Given the description of an element on the screen output the (x, y) to click on. 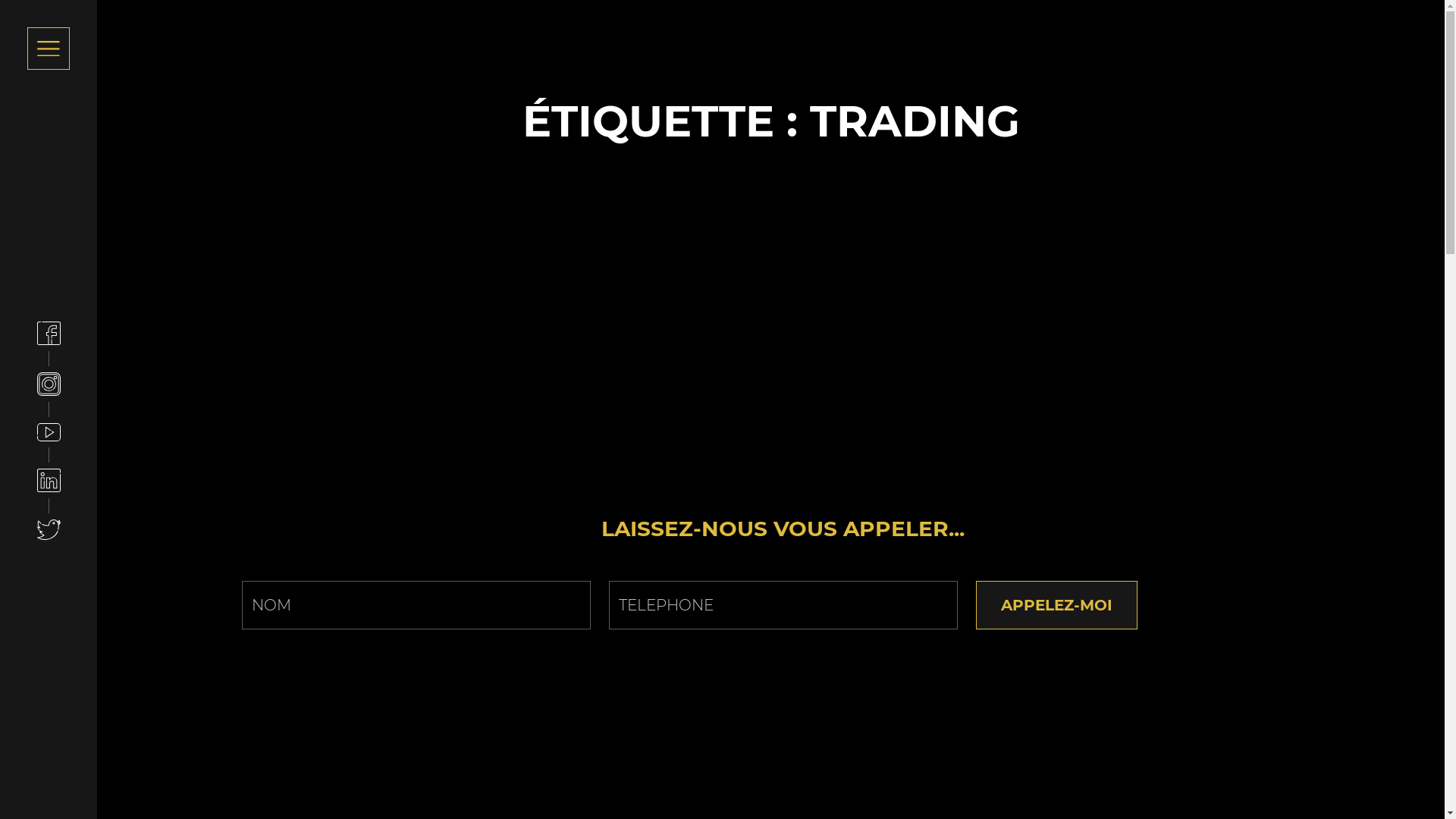
achatdor.ch Element type: hover (770, 36)
APPELEZ-MOI Element type: text (1055, 604)
